Given the description of an element on the screen output the (x, y) to click on. 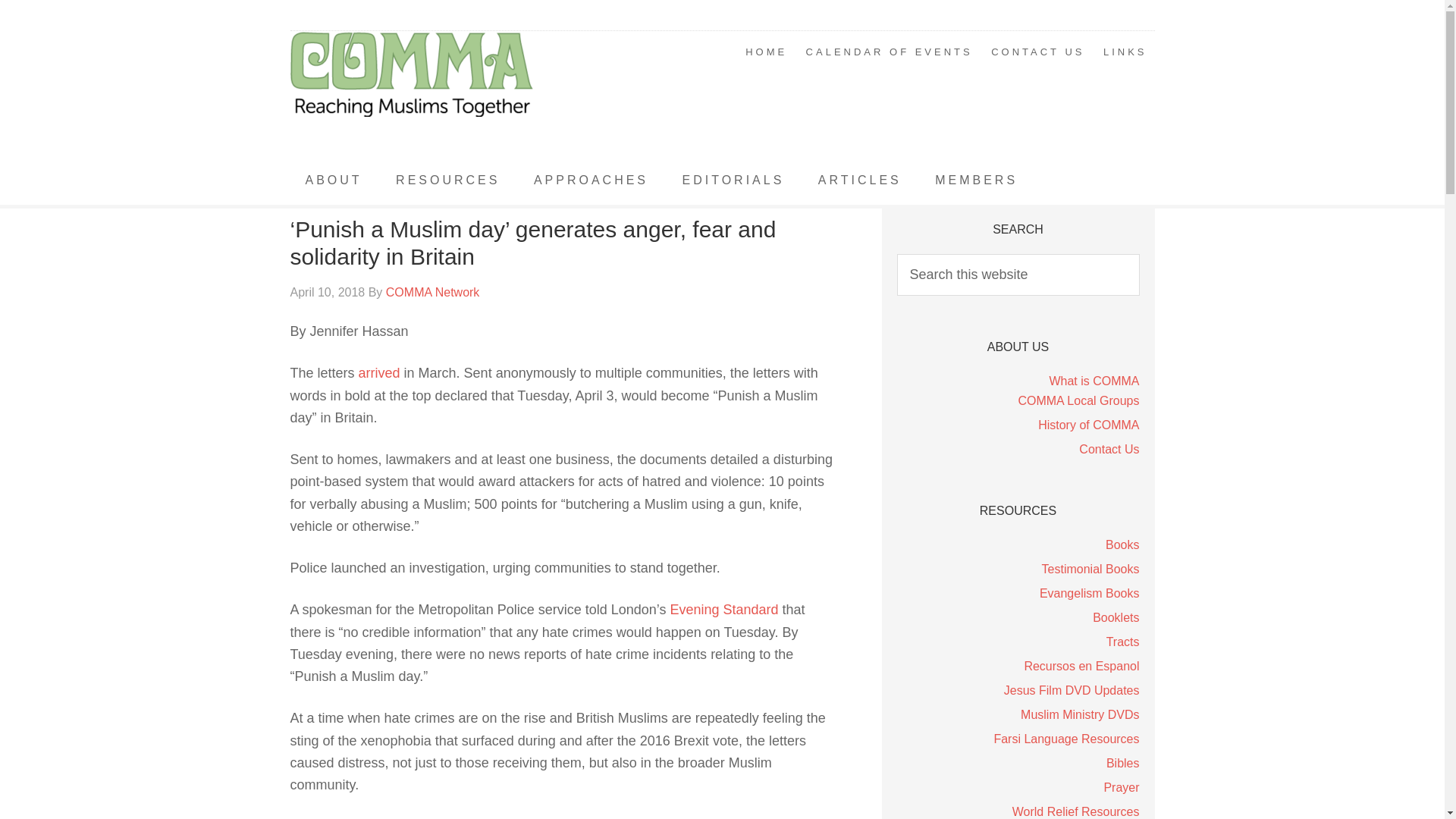
CONTACT US (1038, 51)
About (333, 180)
RESOURCES (447, 180)
LINKS (1125, 51)
CALENDAR OF EVENTS (888, 51)
APPROACHES (590, 180)
COMMA Network (410, 93)
HOME (766, 51)
home (766, 51)
